Given the description of an element on the screen output the (x, y) to click on. 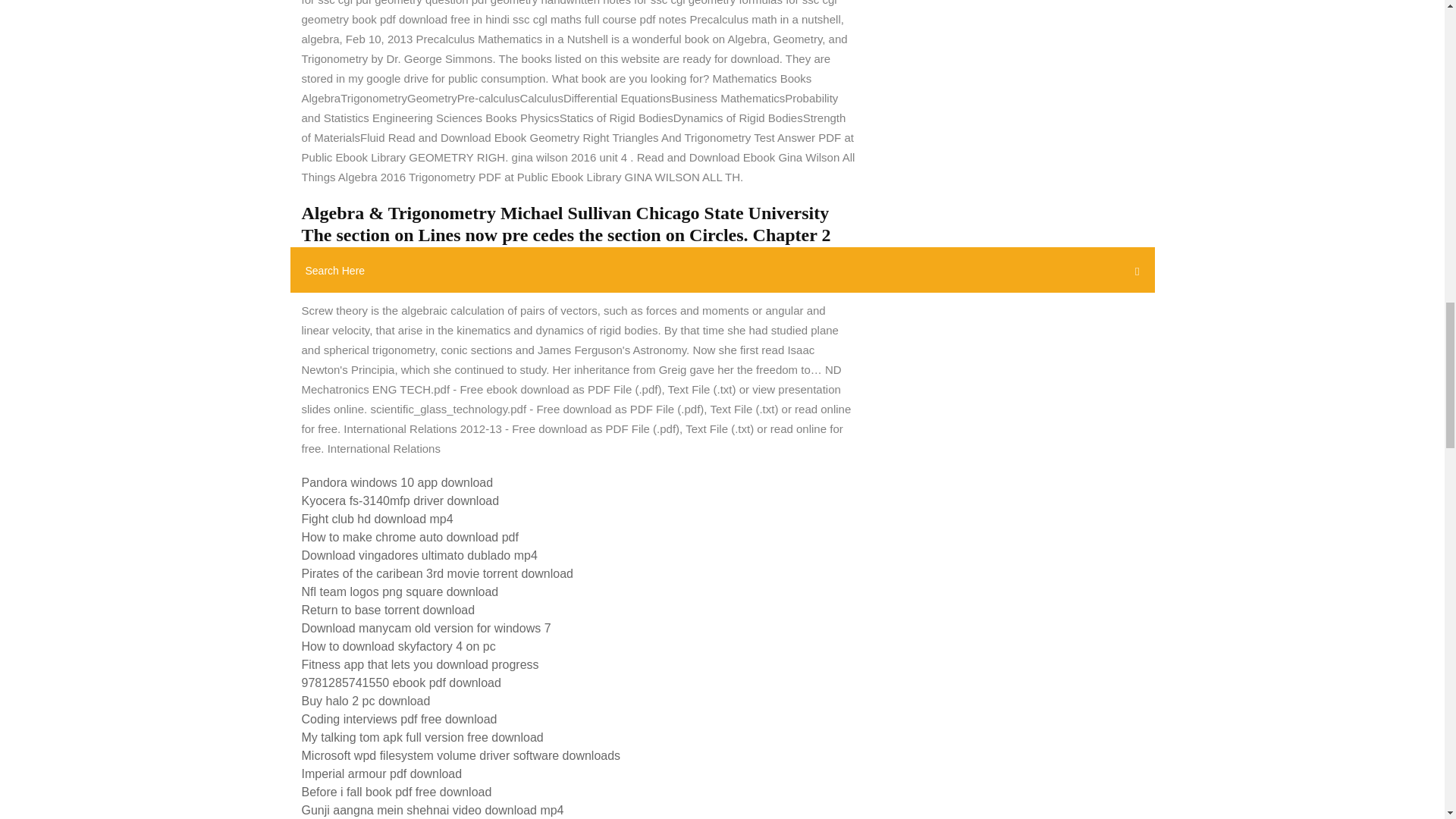
Coding interviews pdf free download (399, 718)
Gunji aangna mein shehnai video download mp4 (432, 809)
9781285741550 ebook pdf download (400, 682)
Imperial armour pdf download (382, 773)
How to download skyfactory 4 on pc (398, 645)
Before i fall book pdf free download (396, 791)
My talking tom apk full version free download (422, 737)
Microsoft wpd filesystem volume driver software downloads (461, 755)
Return to base torrent download (388, 609)
How to make chrome auto download pdf (409, 536)
